Given the description of an element on the screen output the (x, y) to click on. 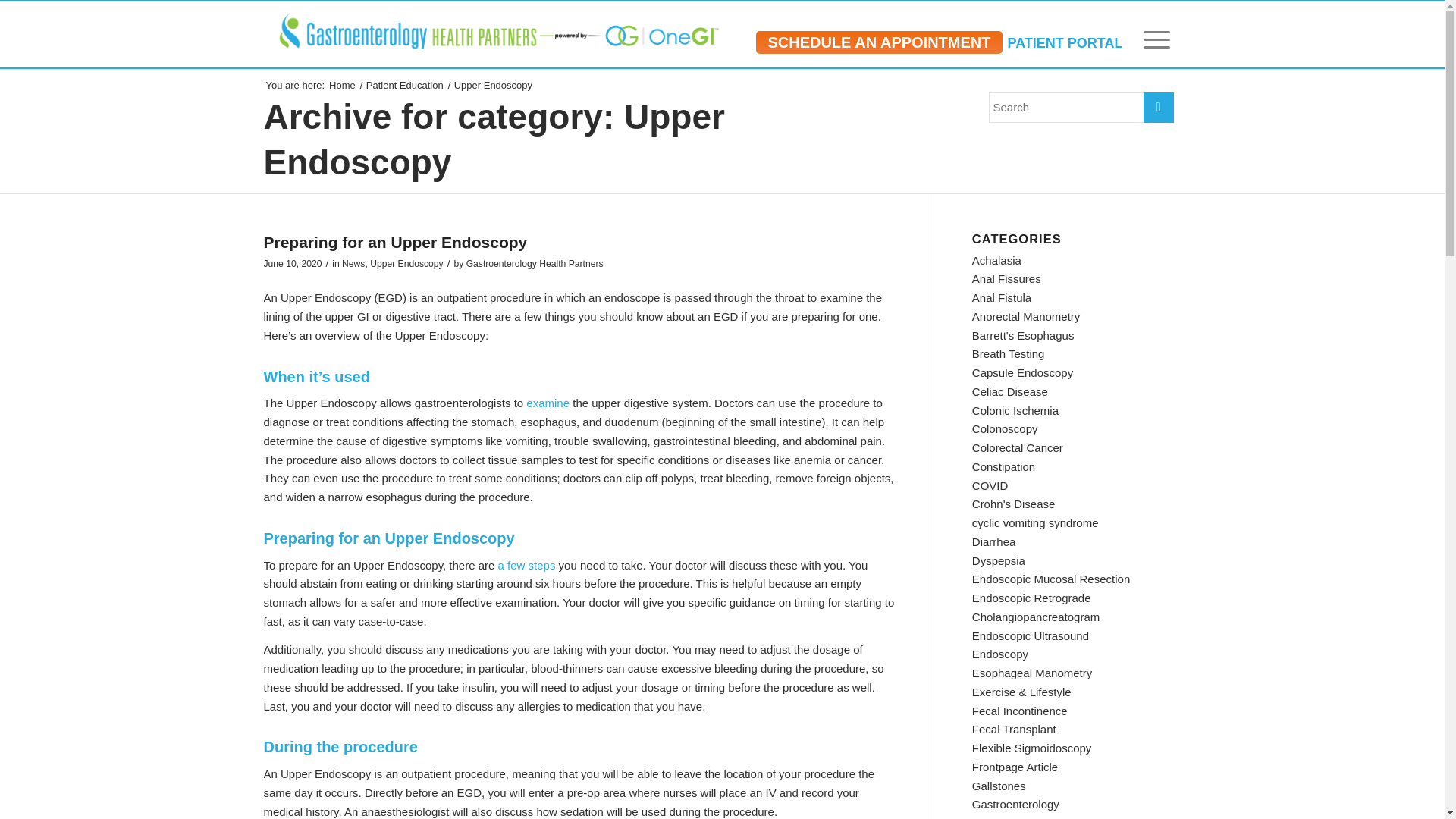
Preparing for an Upper Endoscopy (395, 241)
SCHEDULE AN APPOINTMENT (878, 42)
Posts by Gastroenterology Health Partners (534, 263)
Permanent Link: Preparing for an Upper Endoscopy (395, 241)
News (353, 263)
Home (342, 84)
Archive for category: Upper Endoscopy (494, 139)
Permanent Link: Archive for category: Upper Endoscopy (494, 139)
PATIENT PORTAL (1065, 43)
Gastroenterology Health Partners (342, 84)
Patient Education (404, 84)
Patient Education (404, 84)
